Given the description of an element on the screen output the (x, y) to click on. 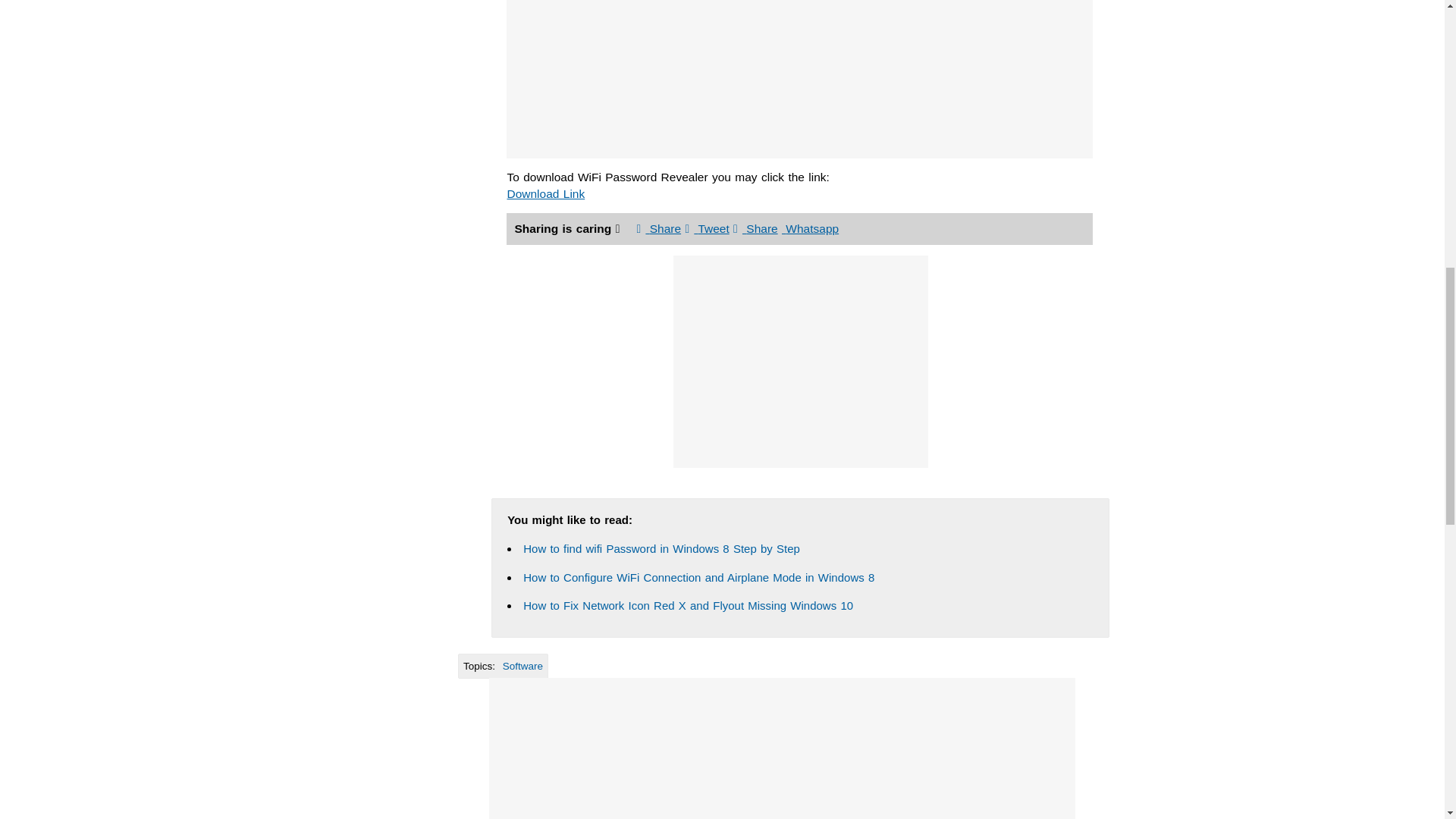
How to Fix Network Icon Red X and Flyout Missing Windows 10 (687, 604)
Whatsapp (809, 228)
Share (659, 228)
Download Link (545, 193)
Tweet (706, 228)
How to find wifi Password in Windows 8 Step by Step (660, 548)
Share (755, 228)
Software (522, 665)
